Given the description of an element on the screen output the (x, y) to click on. 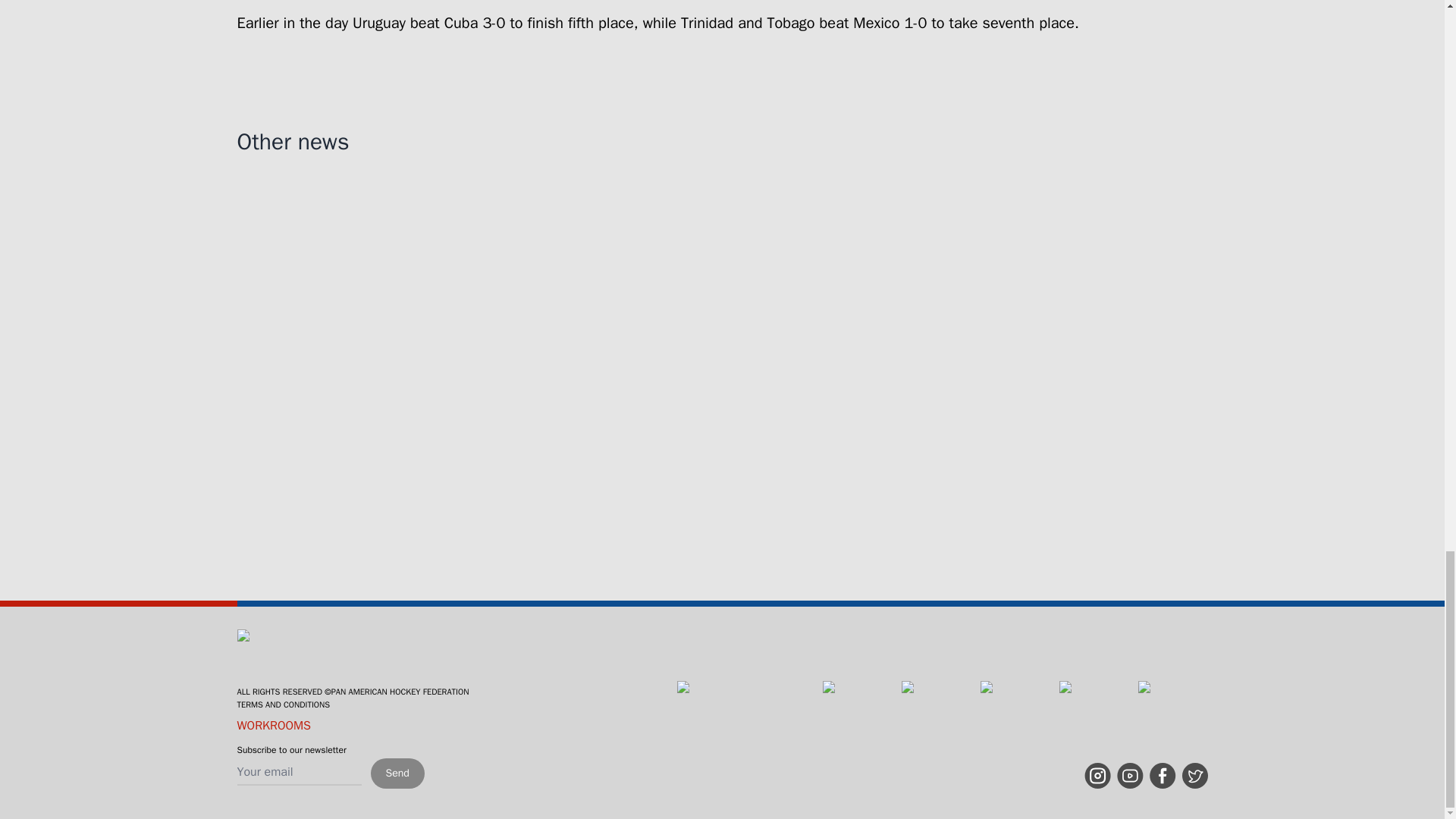
WORKROOMS (272, 725)
TERMS AND CONDITIONS (282, 704)
Send (396, 773)
